Given the description of an element on the screen output the (x, y) to click on. 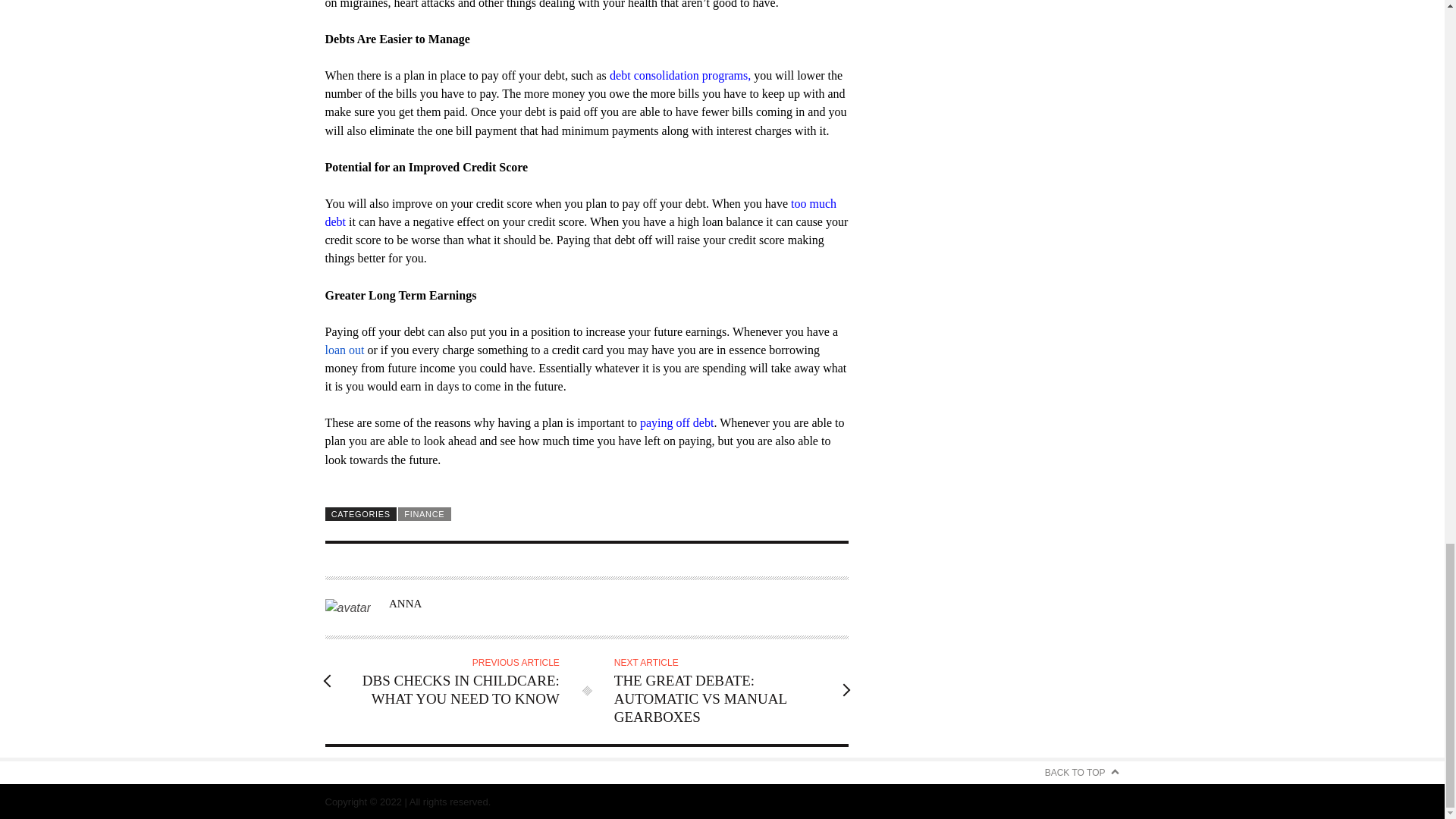
FINANCE (424, 513)
View all posts in Finance (424, 513)
loan out (344, 349)
too much debt (579, 212)
debt consolidation programs (679, 74)
ANNA (405, 603)
Posts by Anna (405, 603)
paying off debt (676, 422)
